Given the description of an element on the screen output the (x, y) to click on. 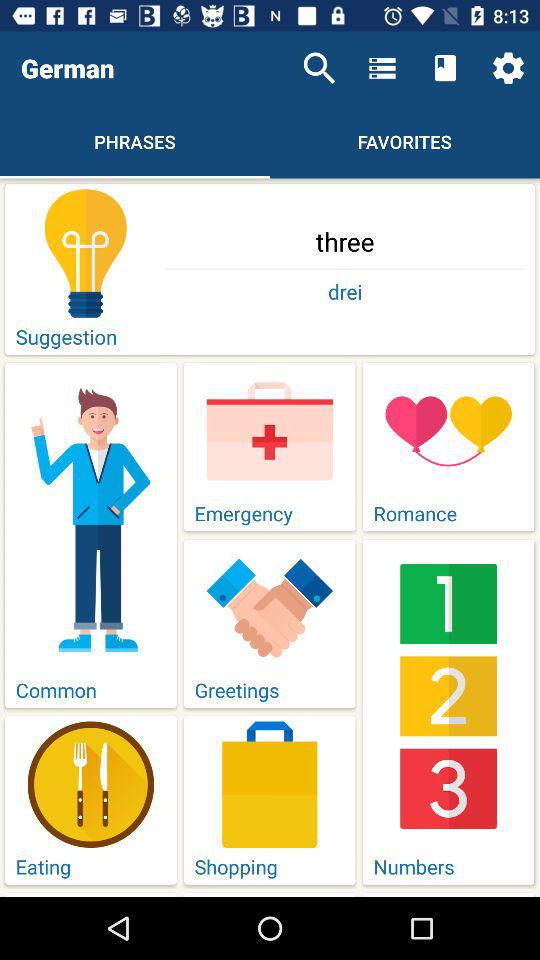
open the item above favorites item (381, 67)
